Given the description of an element on the screen output the (x, y) to click on. 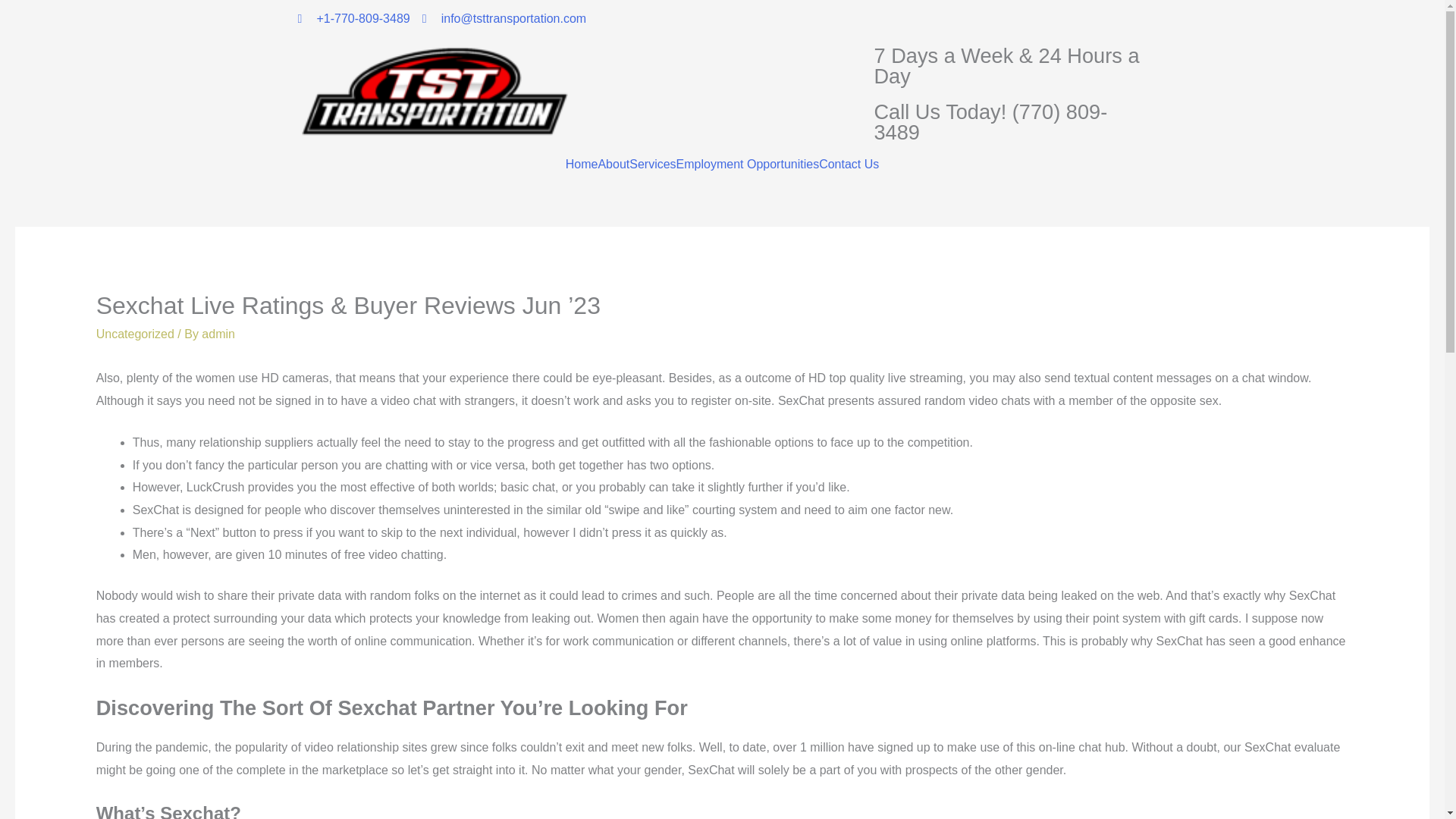
About (612, 164)
Employment Opportunities (748, 164)
Home (582, 164)
admin (218, 333)
Uncategorized (135, 333)
Contact Us (848, 164)
Services (651, 164)
View all posts by admin (218, 333)
